Given the description of an element on the screen output the (x, y) to click on. 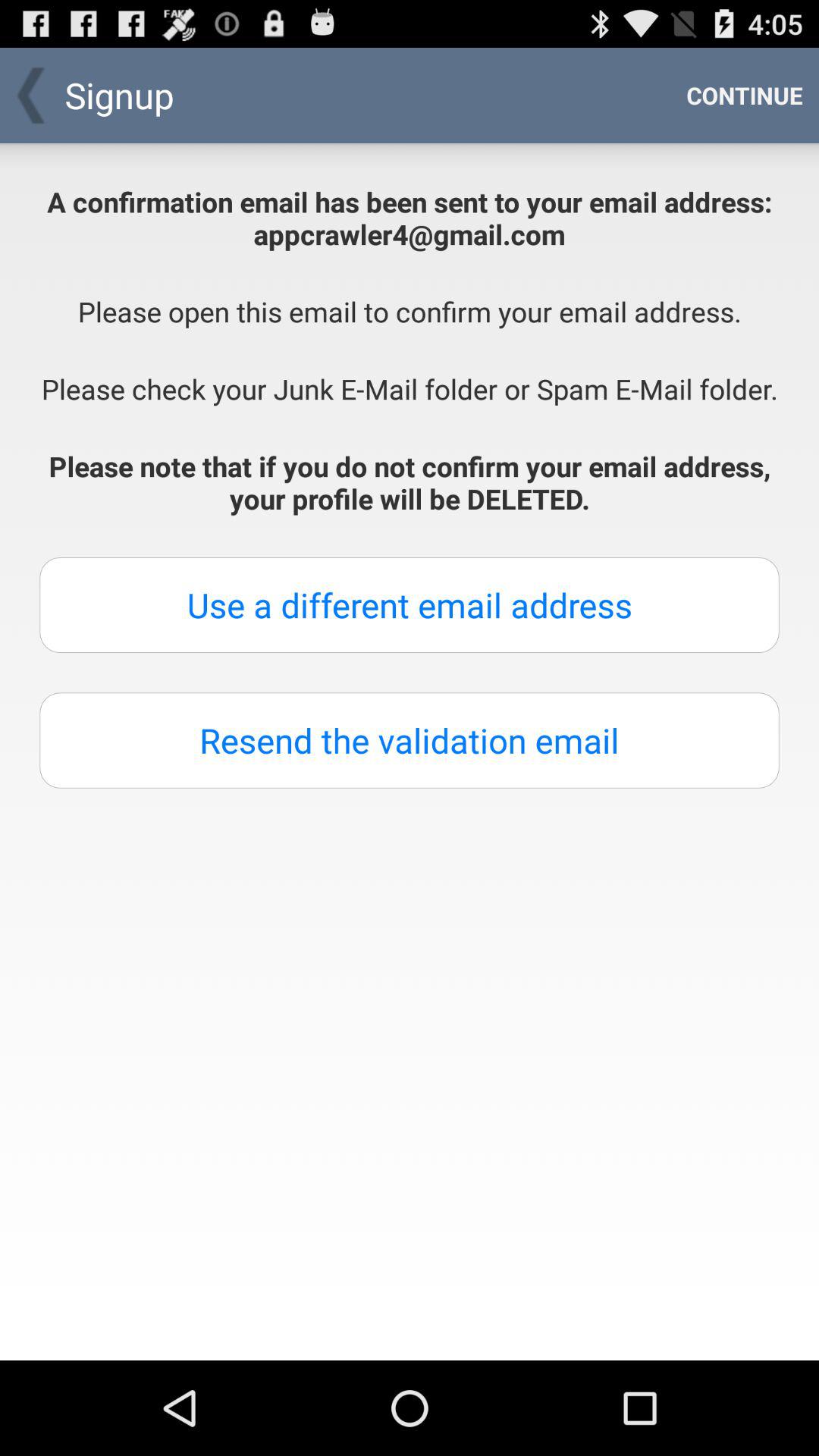
click continue item (744, 95)
